Given the description of an element on the screen output the (x, y) to click on. 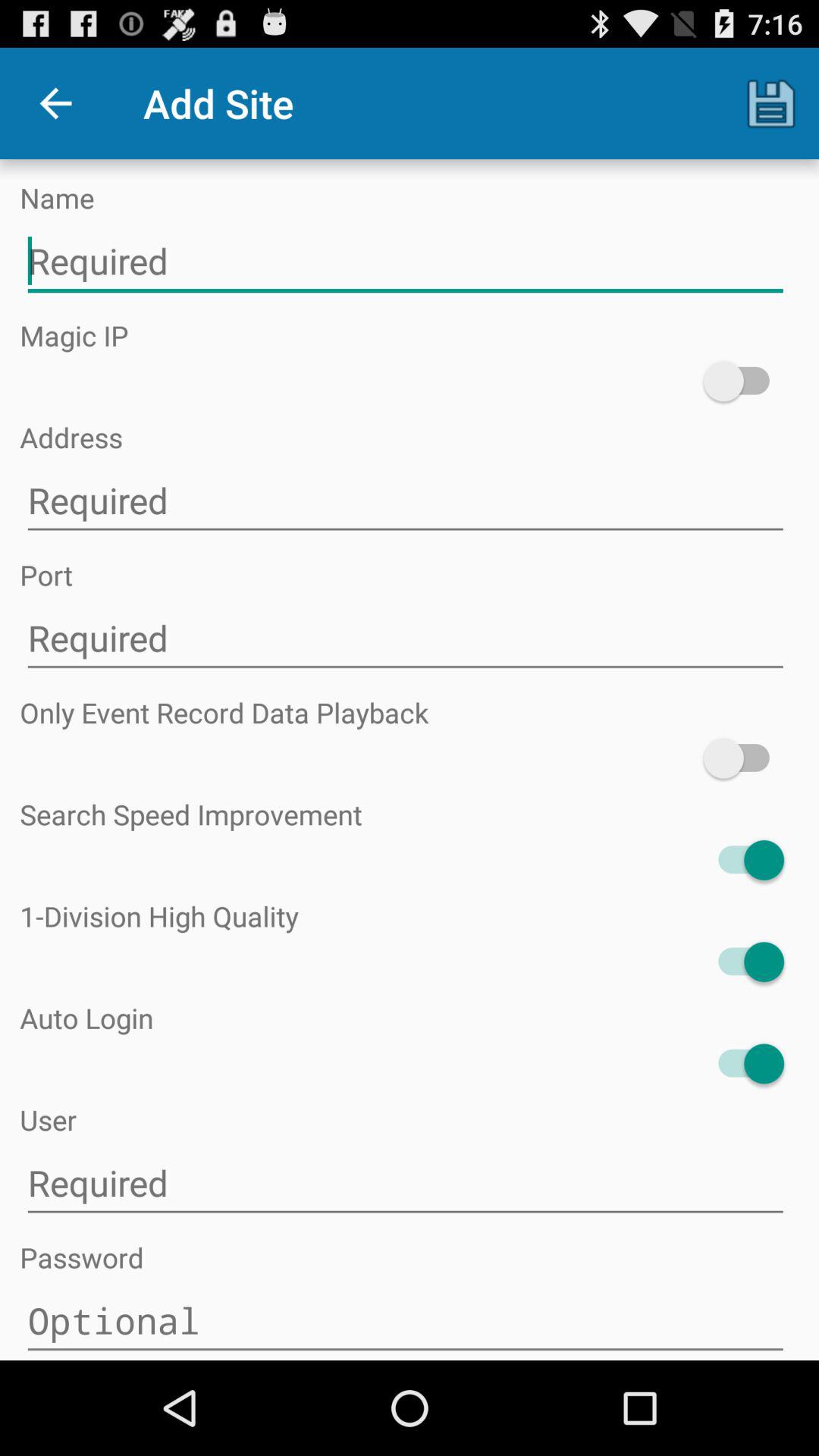
turn off (743, 962)
